Given the description of an element on the screen output the (x, y) to click on. 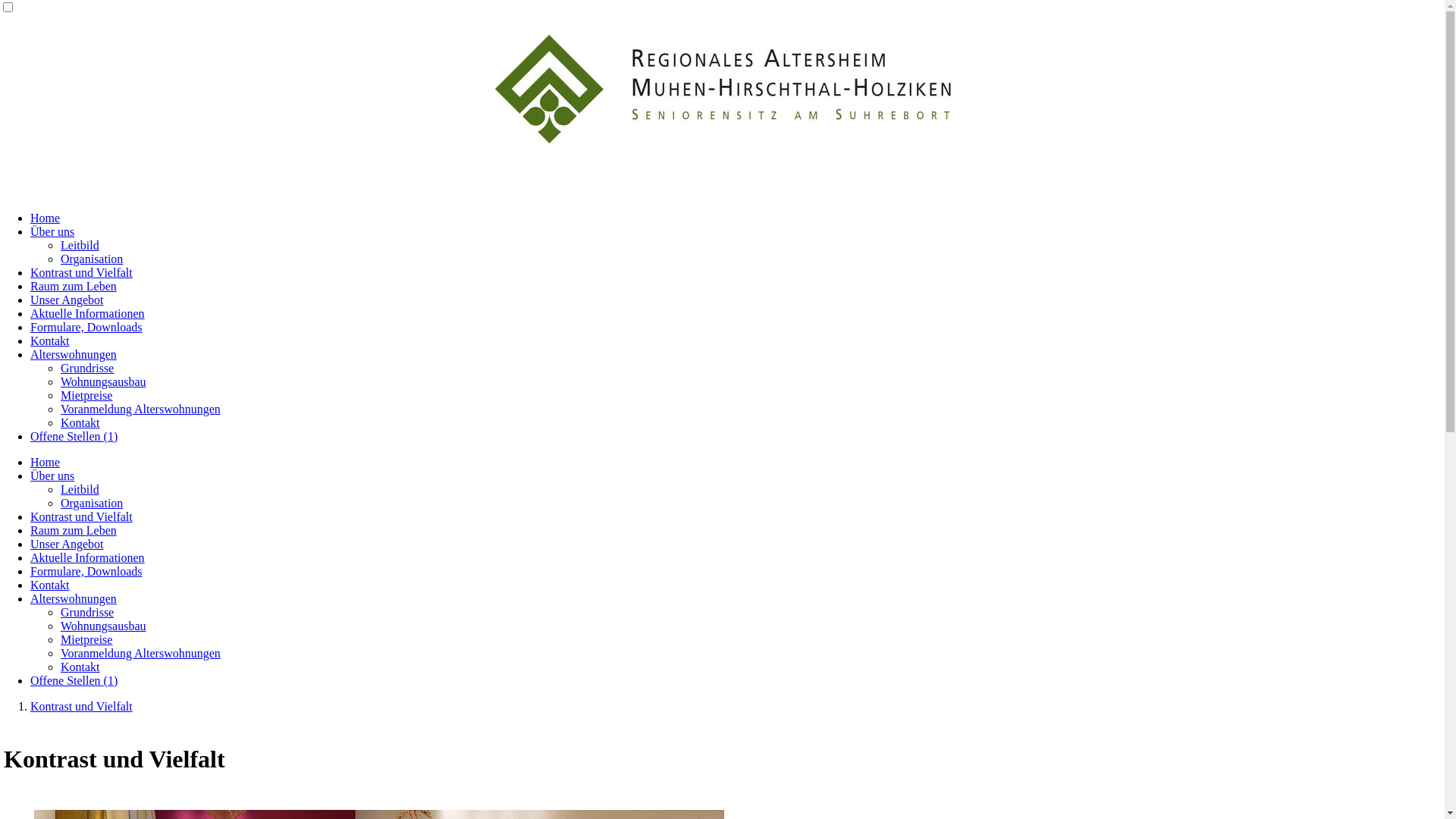
Kontakt Element type: text (49, 584)
Kontrast und Vielfalt Element type: text (81, 516)
Aktuelle Informationen Element type: text (87, 313)
Kontrast und Vielfalt Element type: text (81, 705)
Raum zum Leben Element type: text (73, 285)
Leitbild Element type: text (79, 244)
Mietpreise Element type: text (86, 395)
Kontakt Element type: text (80, 422)
Alterswohnungen Element type: text (73, 354)
Offene Stellen (1) Element type: text (73, 435)
Mietpreise Element type: text (86, 639)
Organisation Element type: text (91, 258)
Kontakt Element type: text (80, 666)
Wohnungsausbau Element type: text (102, 381)
Unser Angebot Element type: text (66, 299)
Leitbild Element type: text (79, 489)
Grundrisse Element type: text (86, 367)
Kontakt Element type: text (49, 340)
Offene Stellen (1) Element type: text (73, 680)
Aktuelle Informationen Element type: text (87, 557)
Grundrisse Element type: text (86, 611)
Raum zum Leben Element type: text (73, 530)
Home Element type: text (44, 217)
Organisation Element type: text (91, 502)
Home Element type: text (44, 461)
 
  Element type: text (4, 181)
Formulare, Downloads Element type: text (86, 570)
Wohnungsausbau Element type: text (102, 625)
Kontrast und Vielfalt Element type: text (81, 272)
Unser Angebot Element type: text (66, 543)
Formulare, Downloads Element type: text (86, 326)
Alterswohnungen Element type: text (73, 598)
Voranmeldung Alterswohnungen Element type: text (140, 652)
Voranmeldung Alterswohnungen Element type: text (140, 408)
